Given the description of an element on the screen output the (x, y) to click on. 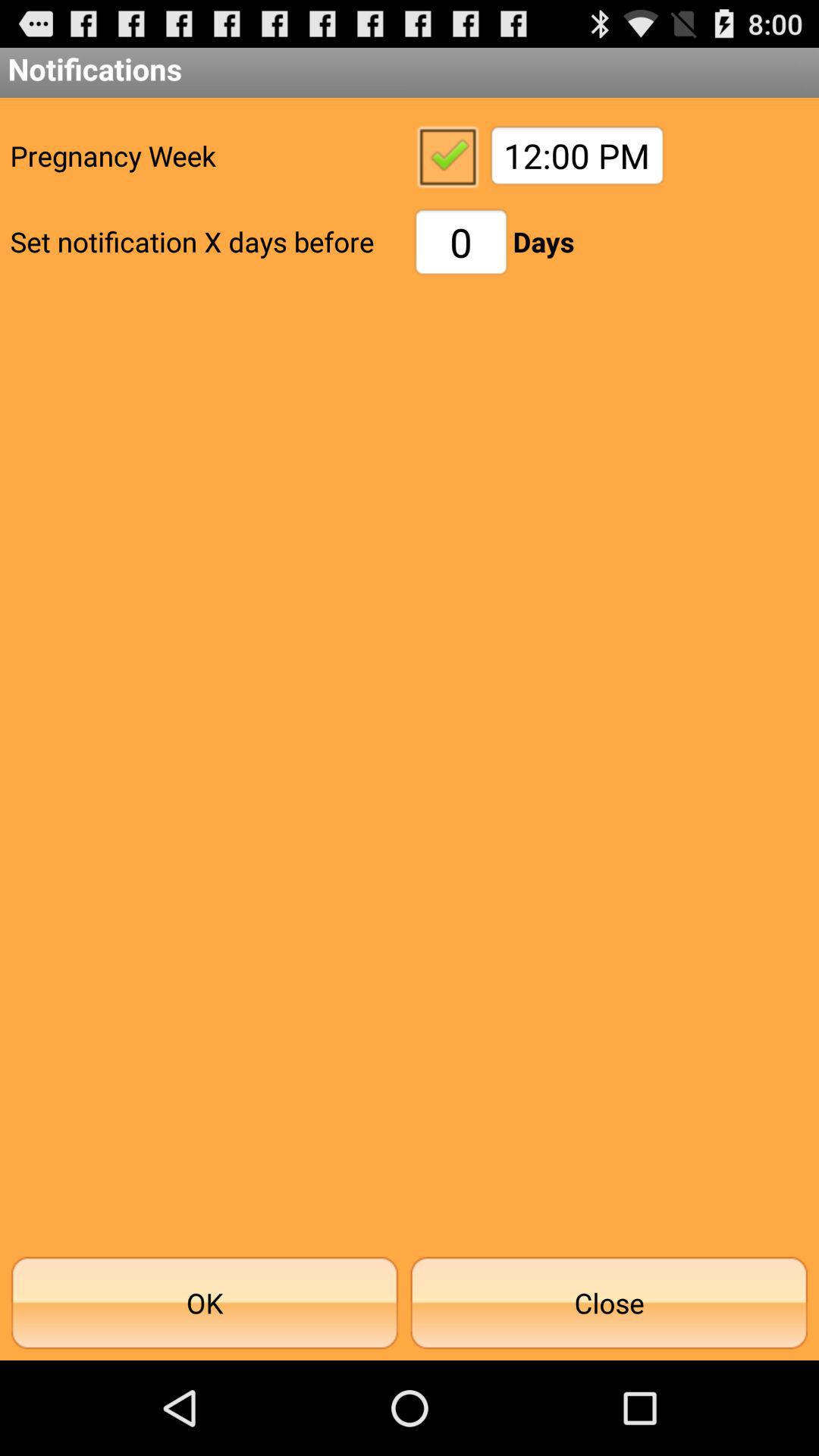
open the app below 0 icon (608, 1302)
